Given the description of an element on the screen output the (x, y) to click on. 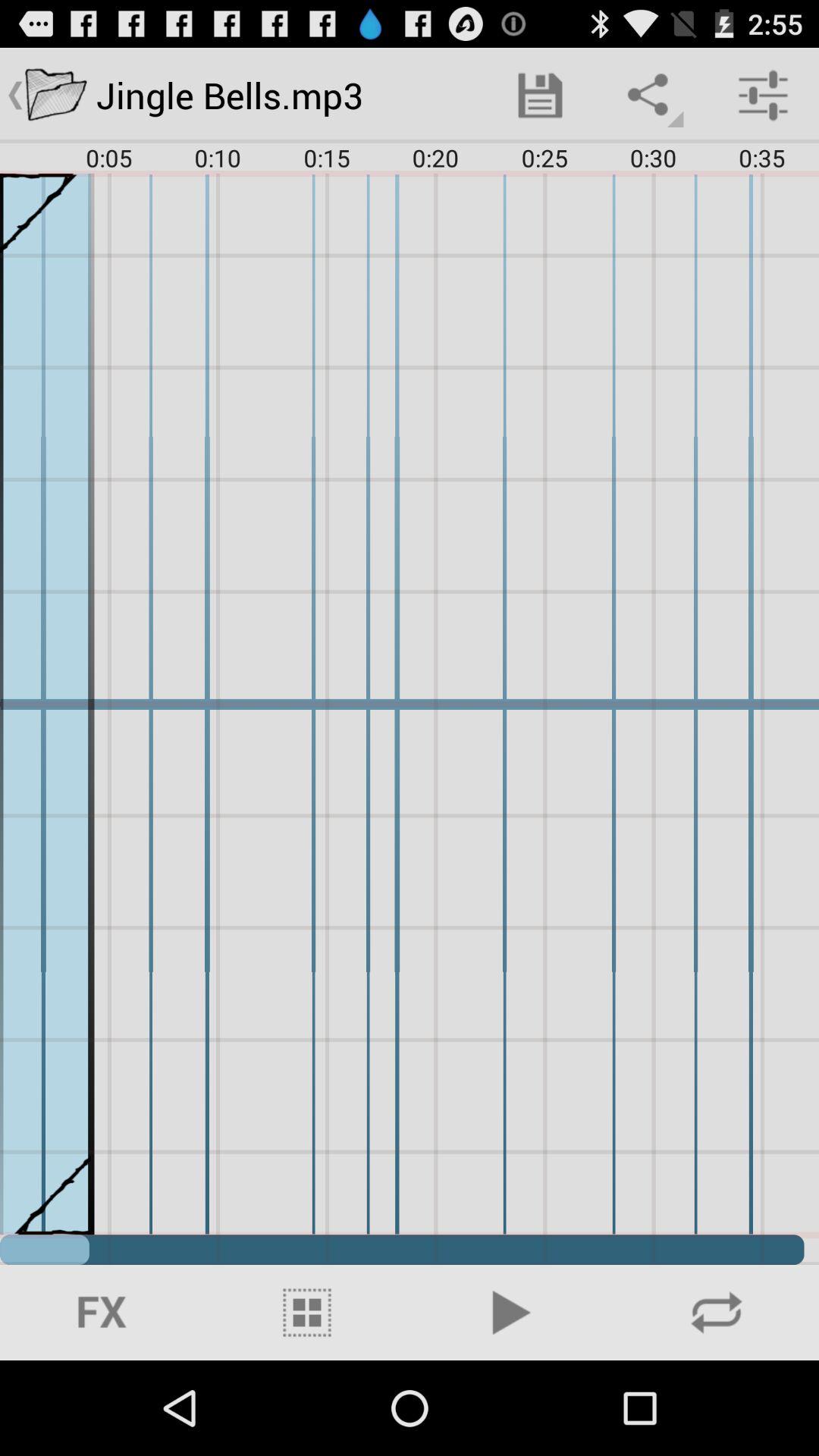
press icon at the bottom left corner (102, 1312)
